Given the description of an element on the screen output the (x, y) to click on. 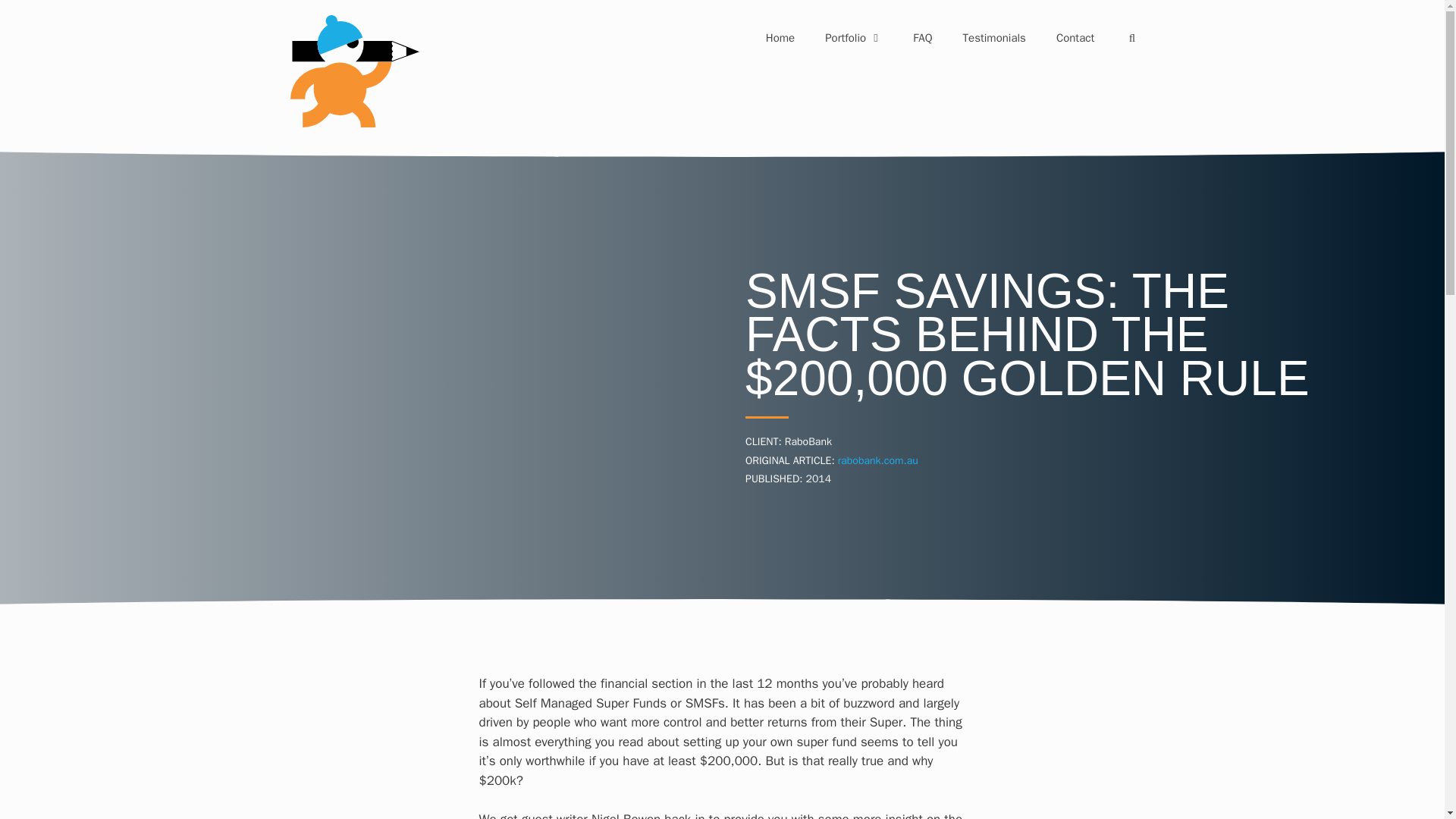
FAQ (922, 37)
Home (780, 37)
Portfolio (853, 37)
ORIGINAL ARTICLE: rabobank.com.au (831, 460)
Contact (1075, 37)
Testimonials (994, 37)
